Given the description of an element on the screen output the (x, y) to click on. 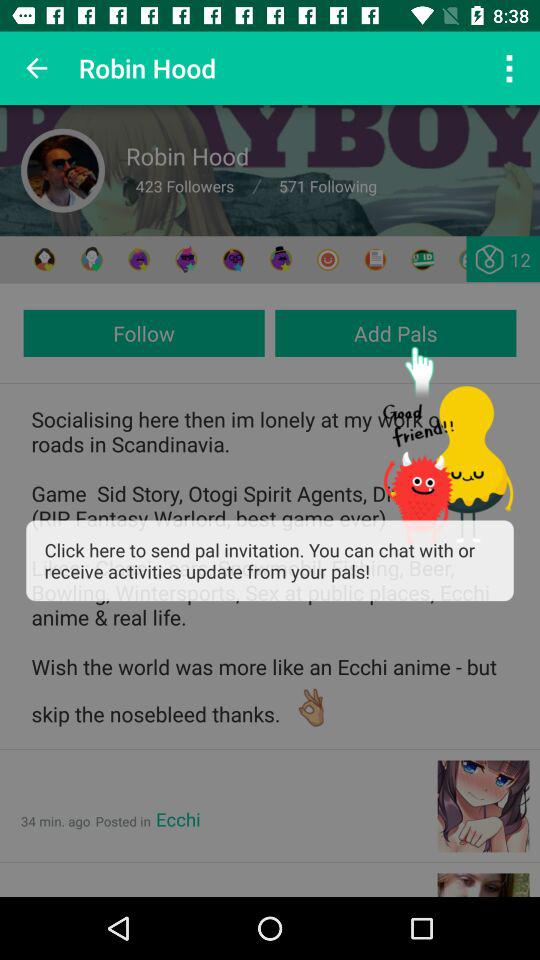
send friend request (280, 259)
